Given the description of an element on the screen output the (x, y) to click on. 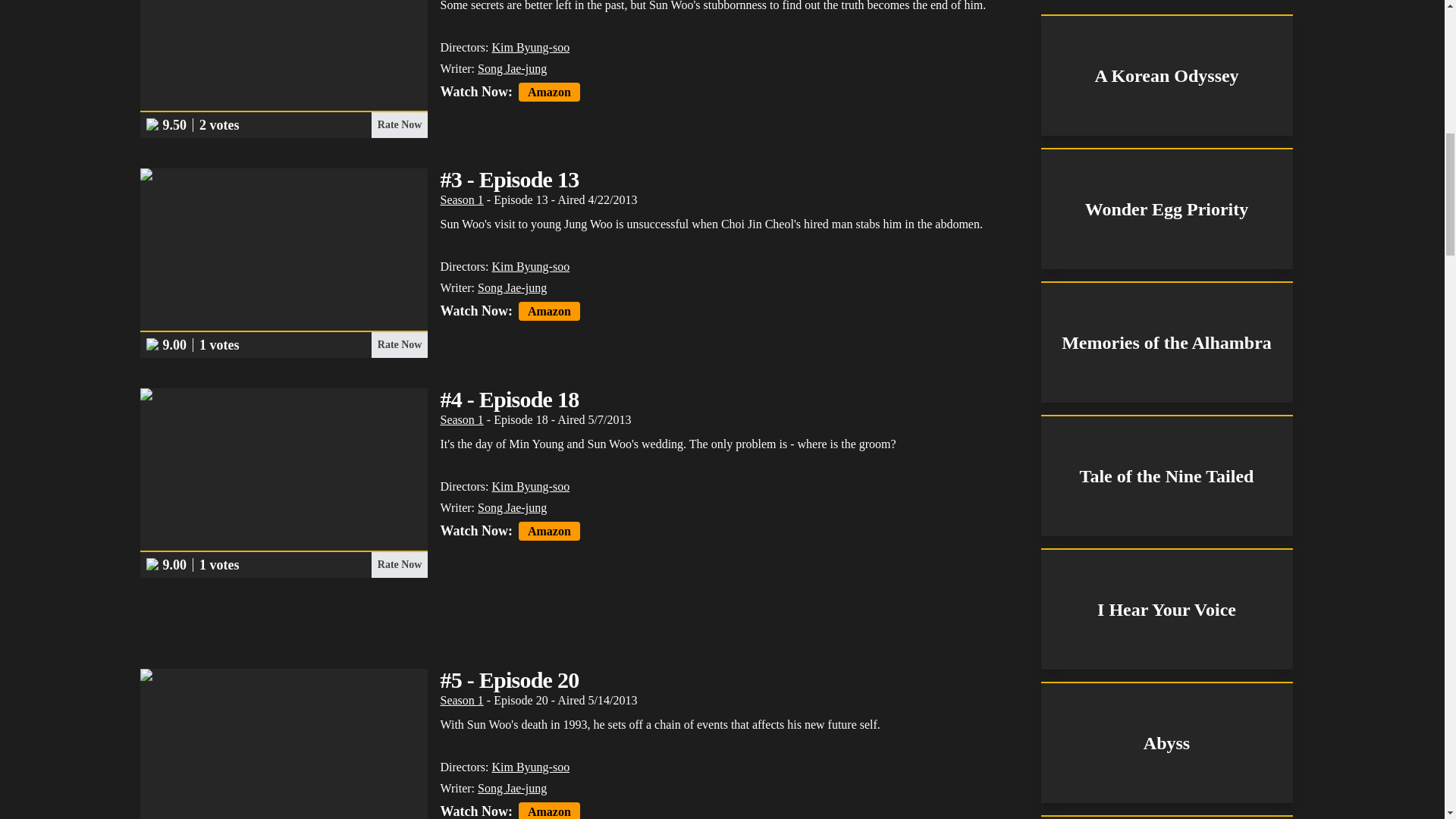
Rate Now (399, 344)
Song Jae-jung (512, 287)
Amazon (548, 530)
Season 1 (461, 199)
Song Jae-jung (512, 788)
Rate Now (399, 565)
Rate Now (399, 125)
Amazon (548, 311)
Kim Byung-soo (530, 766)
Season 1 (461, 699)
Kim Byung-soo (530, 47)
Season 1 (461, 419)
Song Jae-jung (512, 507)
Kim Byung-soo (530, 266)
Kim Byung-soo (530, 486)
